Given the description of an element on the screen output the (x, y) to click on. 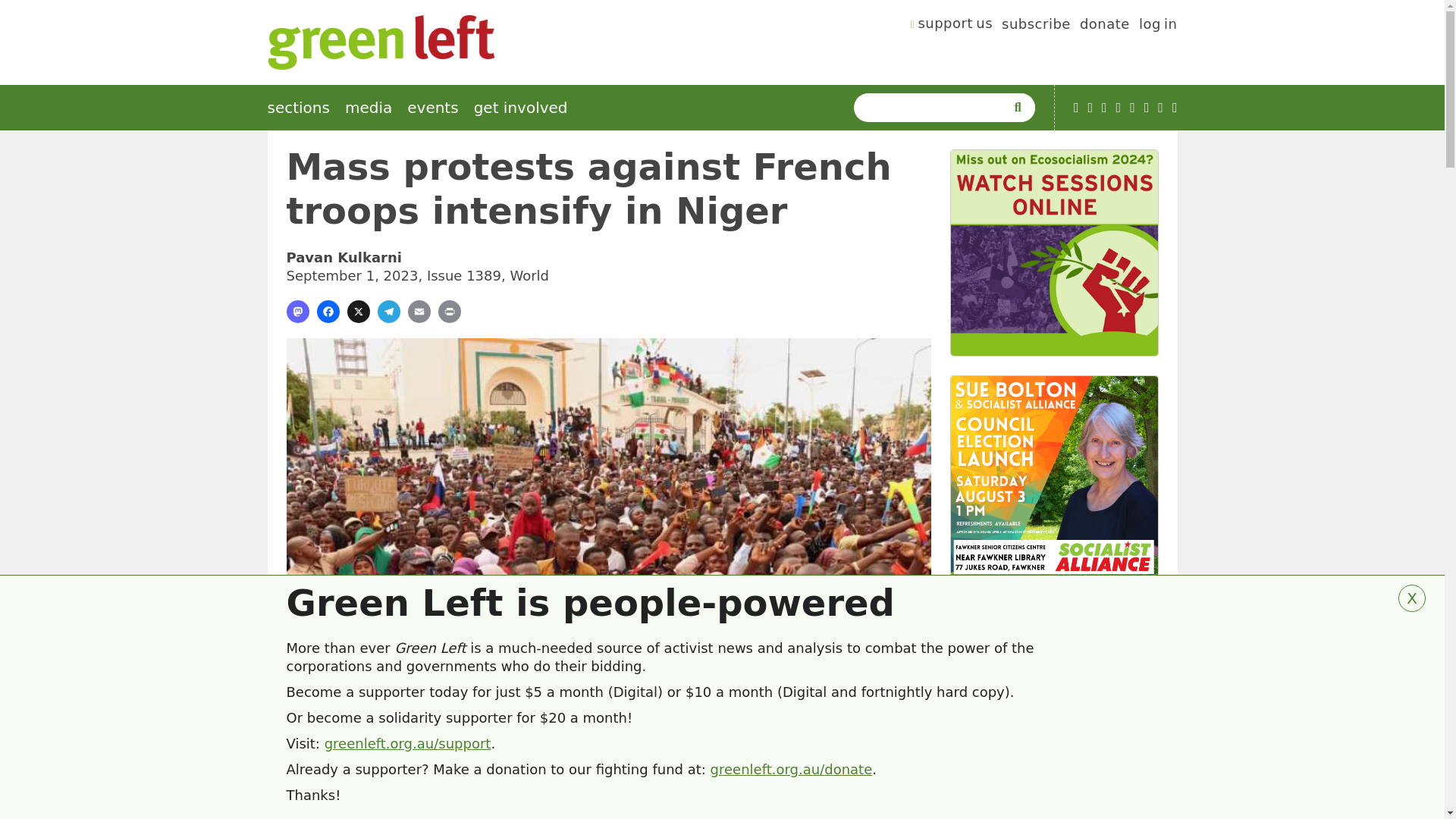
support us (951, 26)
log in (1157, 26)
Share on Facebook (328, 311)
Share on X (358, 311)
subscribe (1035, 26)
donate (1104, 26)
share via email (418, 311)
Share on Telegram (388, 311)
Enter the terms you wish to search for. (932, 107)
Share on Mastondon (297, 311)
events (432, 107)
Print (449, 311)
